Given the description of an element on the screen output the (x, y) to click on. 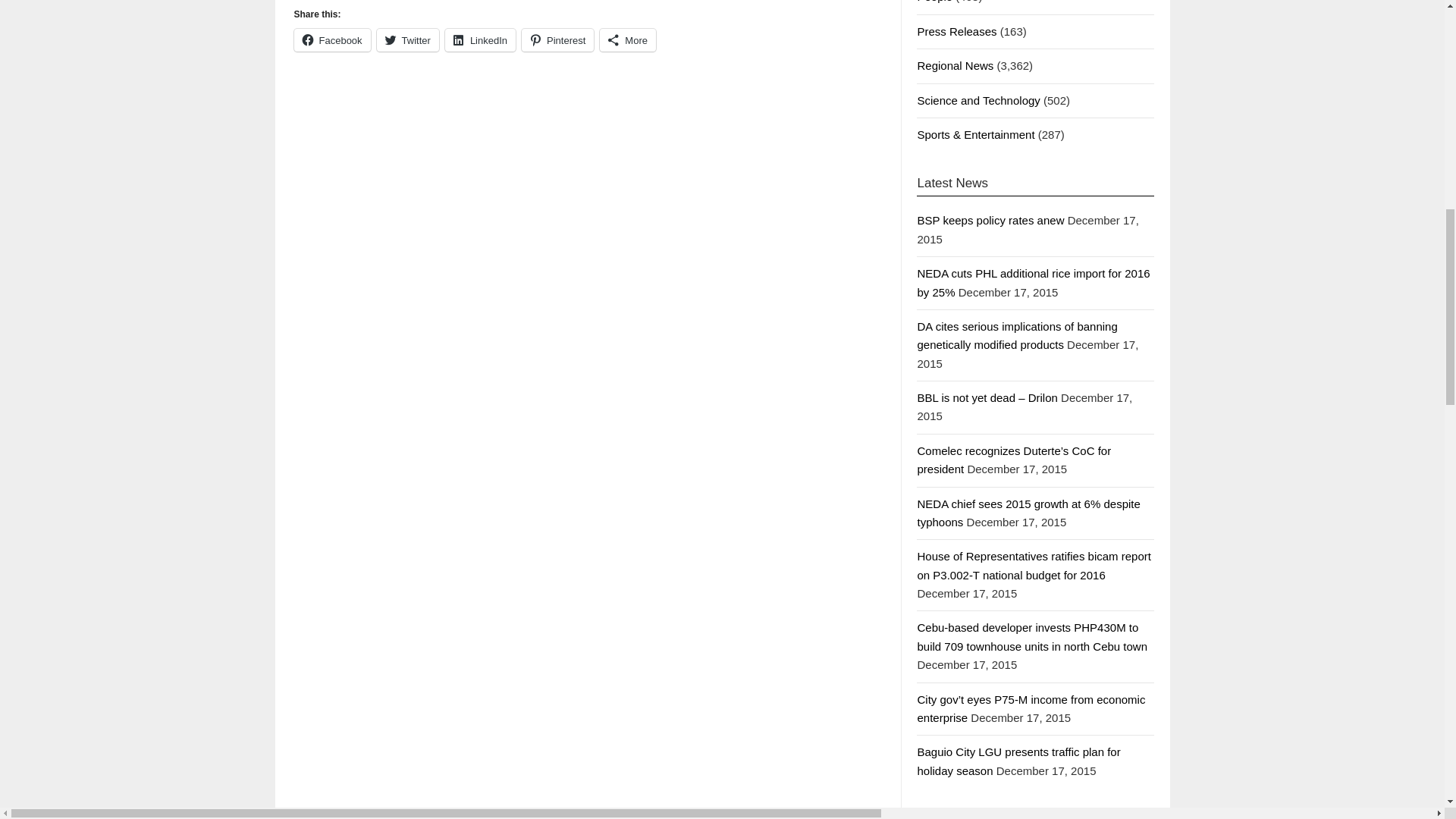
Click to share on Pinterest (557, 39)
More (627, 39)
BSP keeps policy rates anew (990, 219)
People (934, 1)
Click to share on Twitter (408, 39)
Facebook (332, 39)
Science and Technology (978, 100)
Press Releases (956, 31)
Click to share on Facebook (332, 39)
LinkedIn (480, 39)
Regional News (954, 65)
Pinterest (557, 39)
Click to share on LinkedIn (480, 39)
Twitter (408, 39)
